Given the description of an element on the screen output the (x, y) to click on. 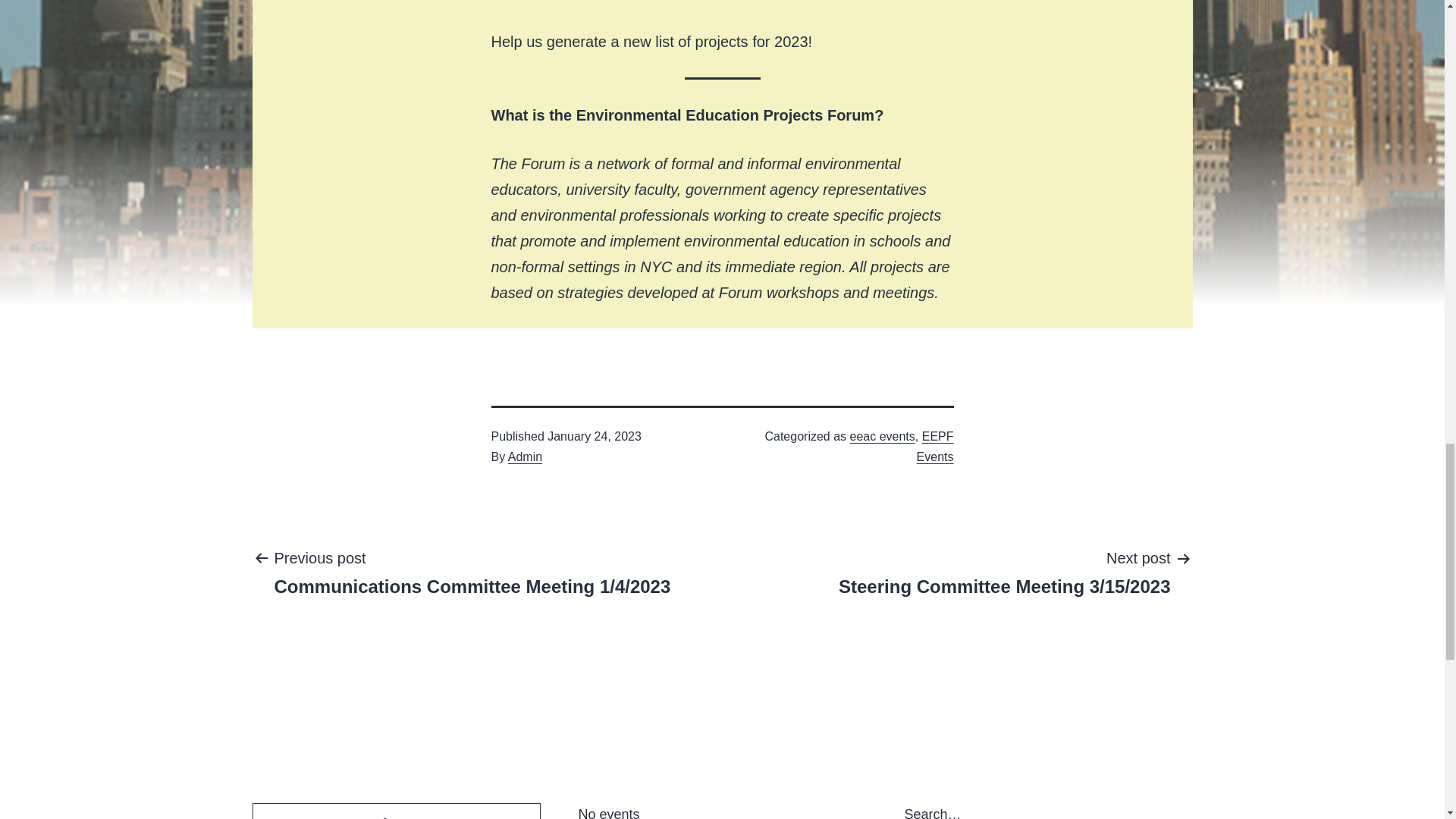
Admin (524, 456)
EEPF Events (935, 446)
eeac events (882, 436)
